Given the description of an element on the screen output the (x, y) to click on. 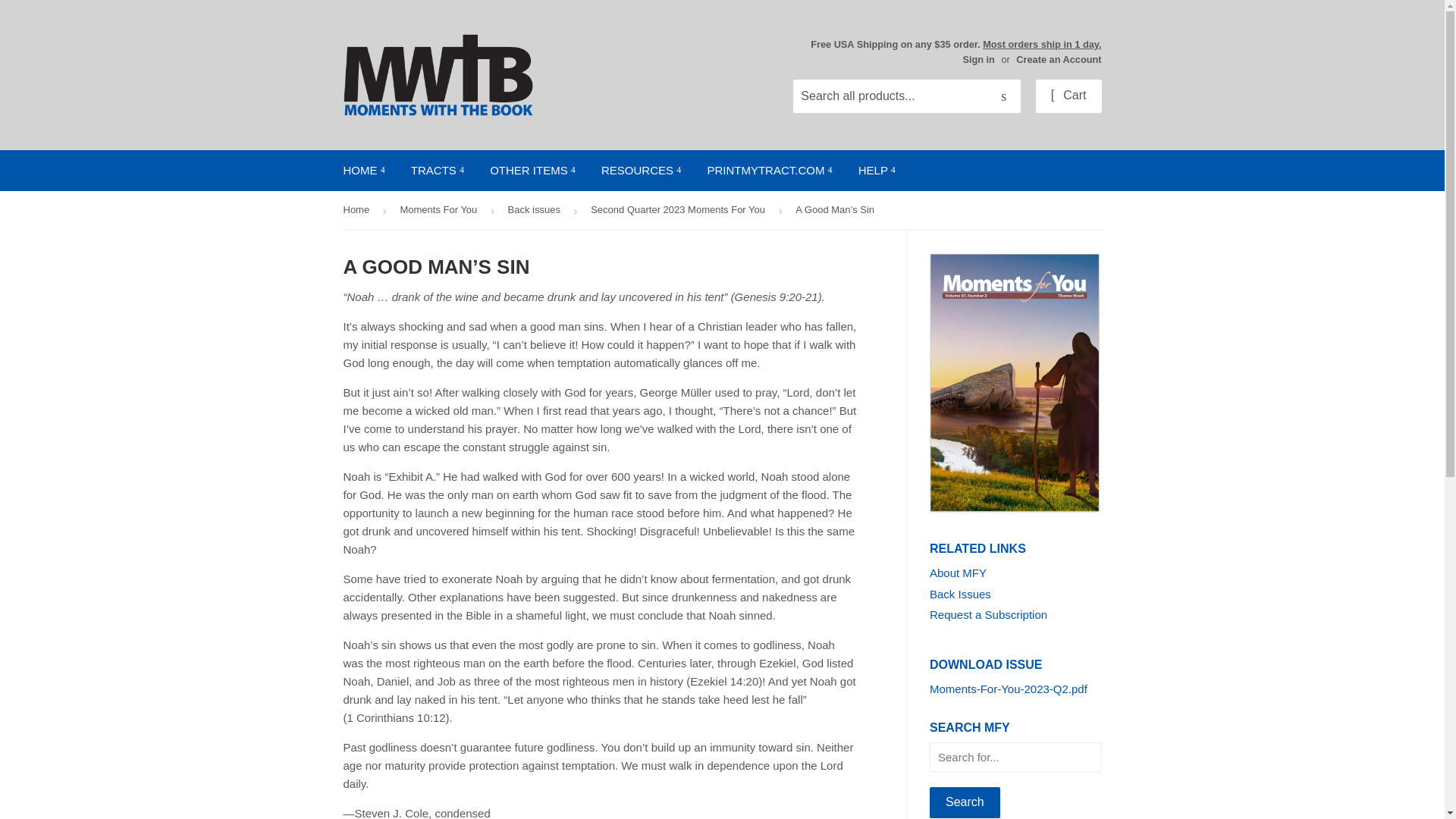
PRINTMYTRACT.COM (769, 169)
TRACTS (437, 169)
Search (965, 802)
Create an Account (1058, 59)
Search (1003, 97)
RESOURCES (641, 169)
Cart (1068, 96)
HOME (363, 169)
Sign in (978, 59)
OTHER ITEMS (532, 169)
